Given the description of an element on the screen output the (x, y) to click on. 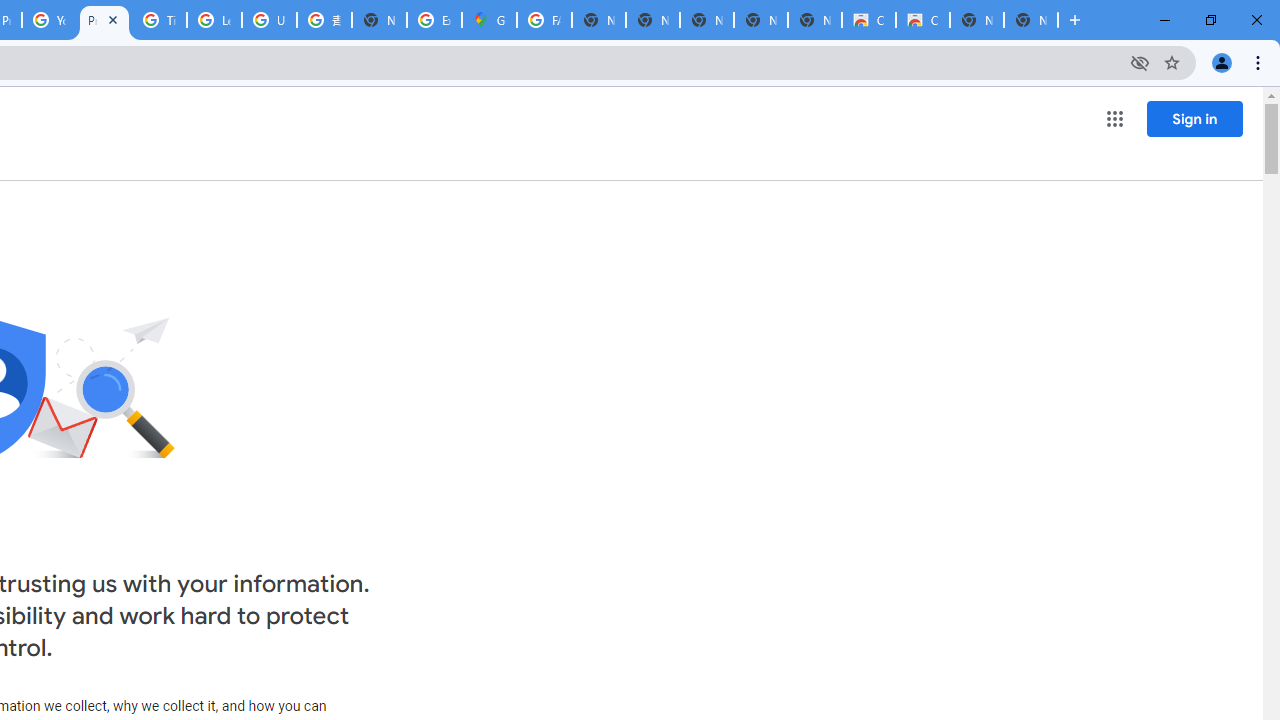
New Tab (1030, 20)
Classic Blue - Chrome Web Store (868, 20)
YouTube (48, 20)
